Given the description of an element on the screen output the (x, y) to click on. 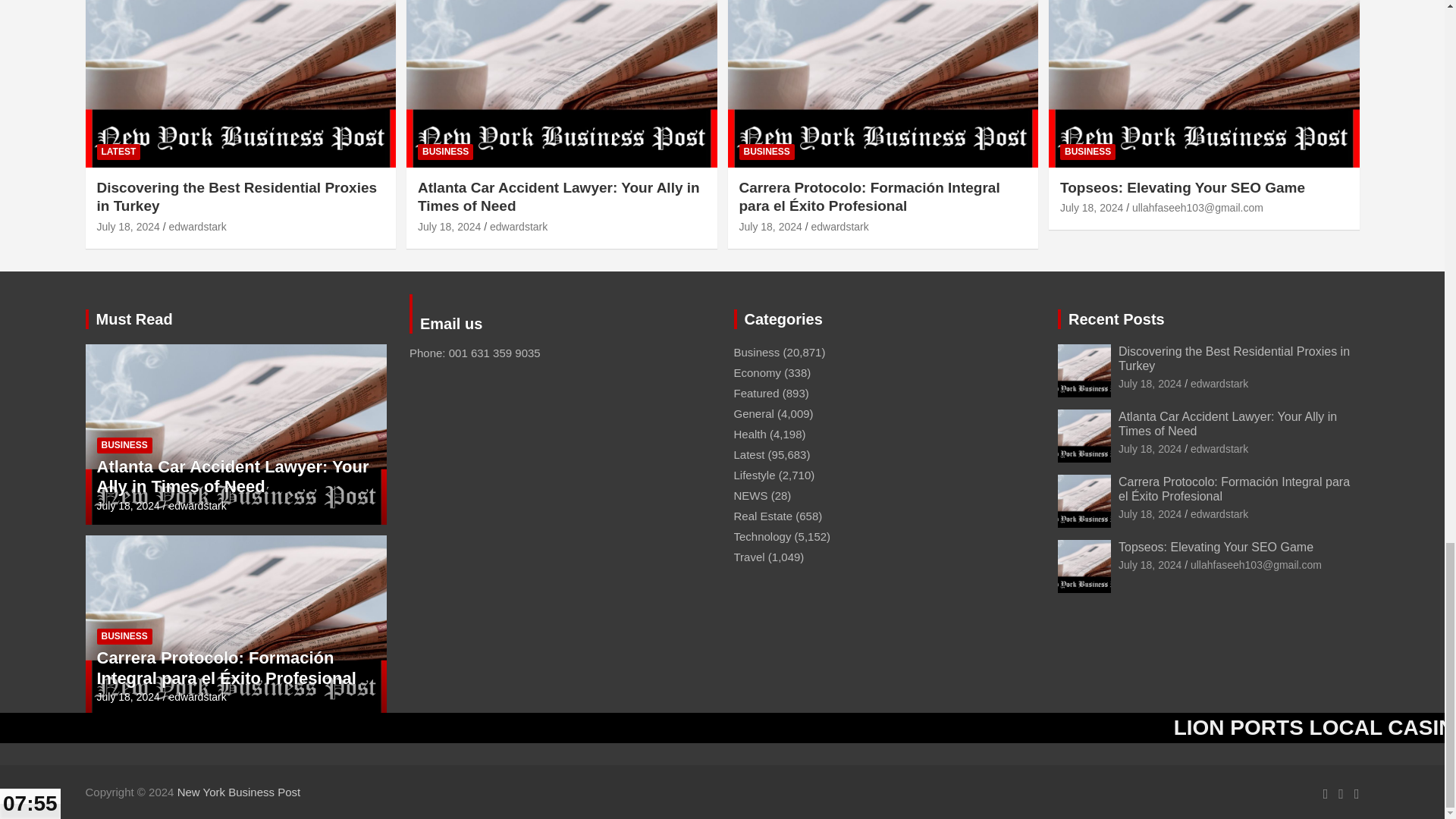
Discovering the Best Residential Proxies in Turkey (128, 226)
Atlanta Car Accident Lawyer: Your Ally in Times of Need (448, 226)
Topseos: Elevating Your SEO Game (1090, 207)
Atlanta Car Accident Lawyer: Your Ally in Times of Need (128, 505)
Atlanta Car Accident Lawyer: Your Ally in Times of Need (1149, 449)
Discovering the Best Residential Proxies in Turkey (1149, 383)
